Given the description of an element on the screen output the (x, y) to click on. 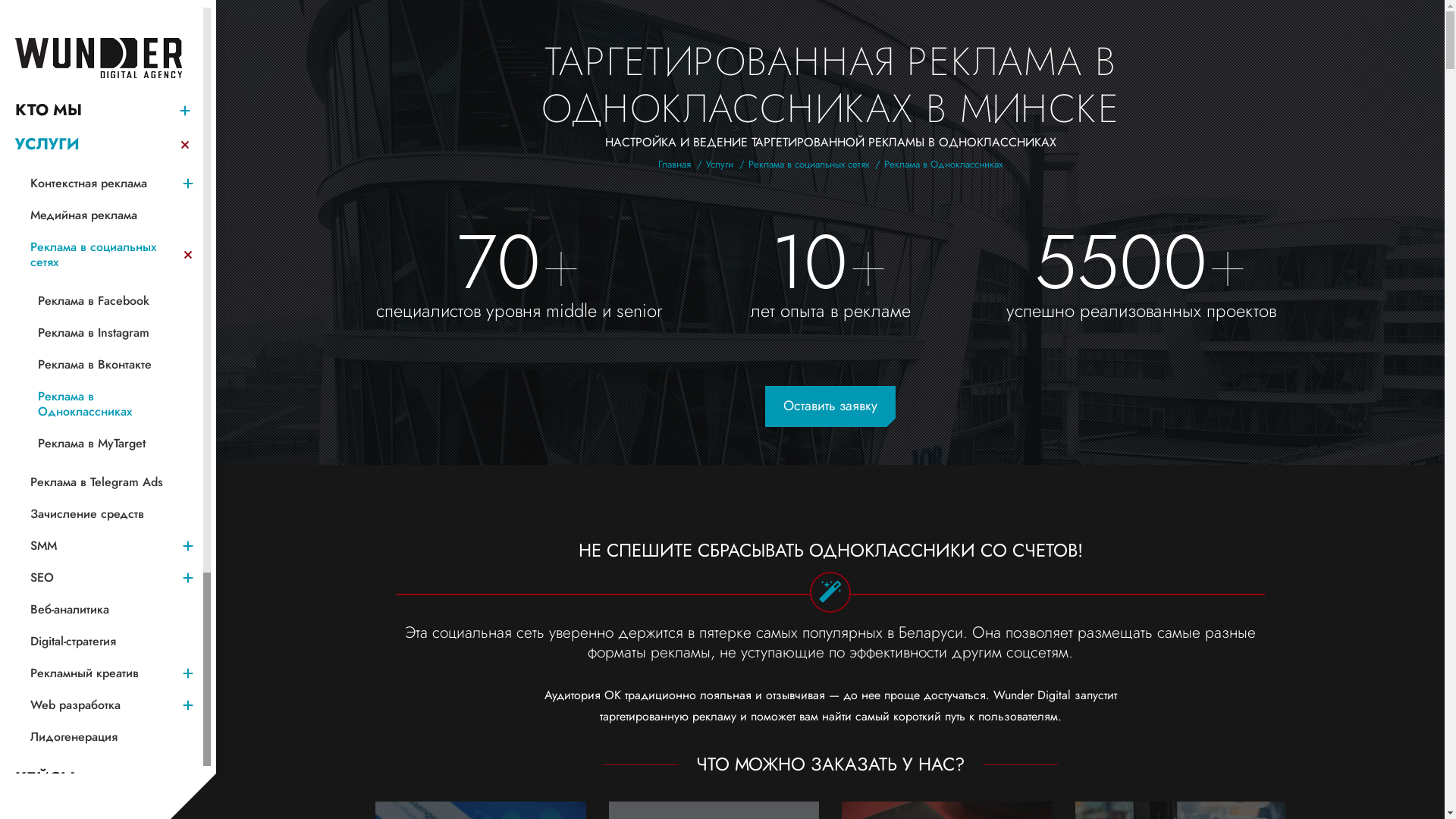
SMM Element type: text (100, 545)
SEO Element type: text (100, 577)
